Given the description of an element on the screen output the (x, y) to click on. 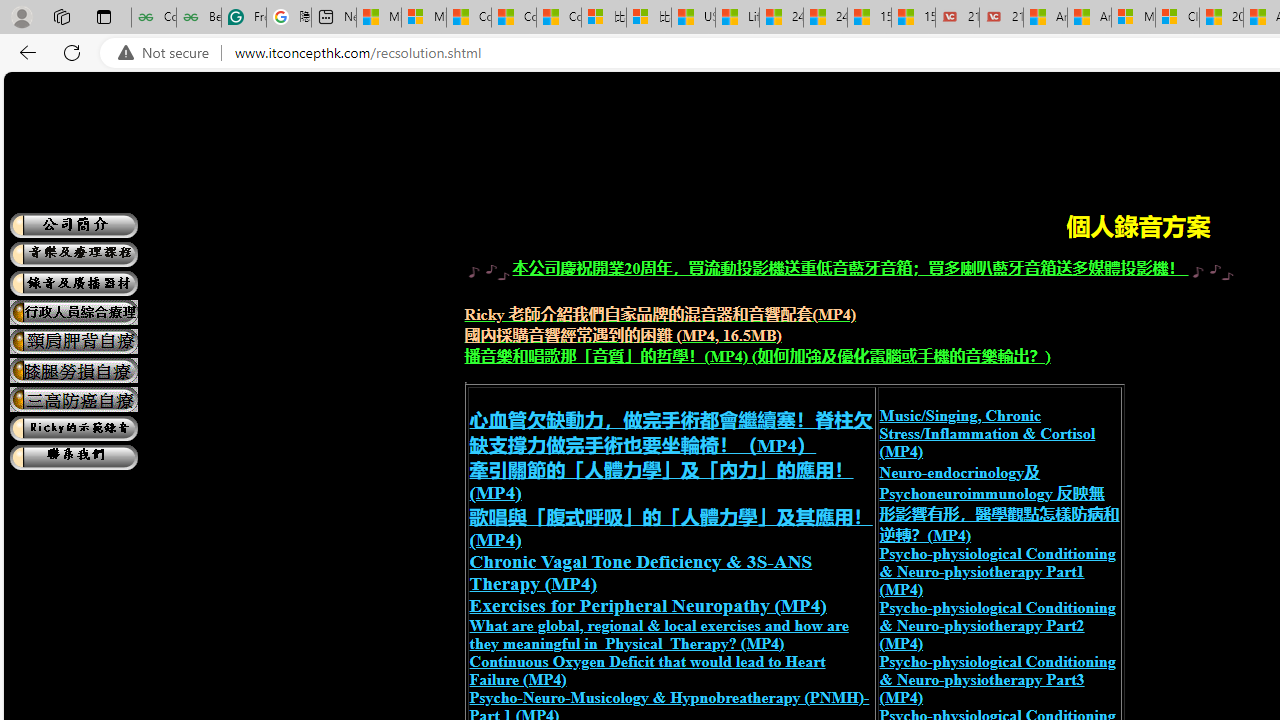
Best SSL Certificates Provider in India - GeeksforGeeks (198, 17)
20 Ways to Boost Your Protein Intake at Every Meal (1220, 17)
Chronic Vagal Tone Deficiency & 3S-ANS Therapy (MP4) (640, 572)
